Given the description of an element on the screen output the (x, y) to click on. 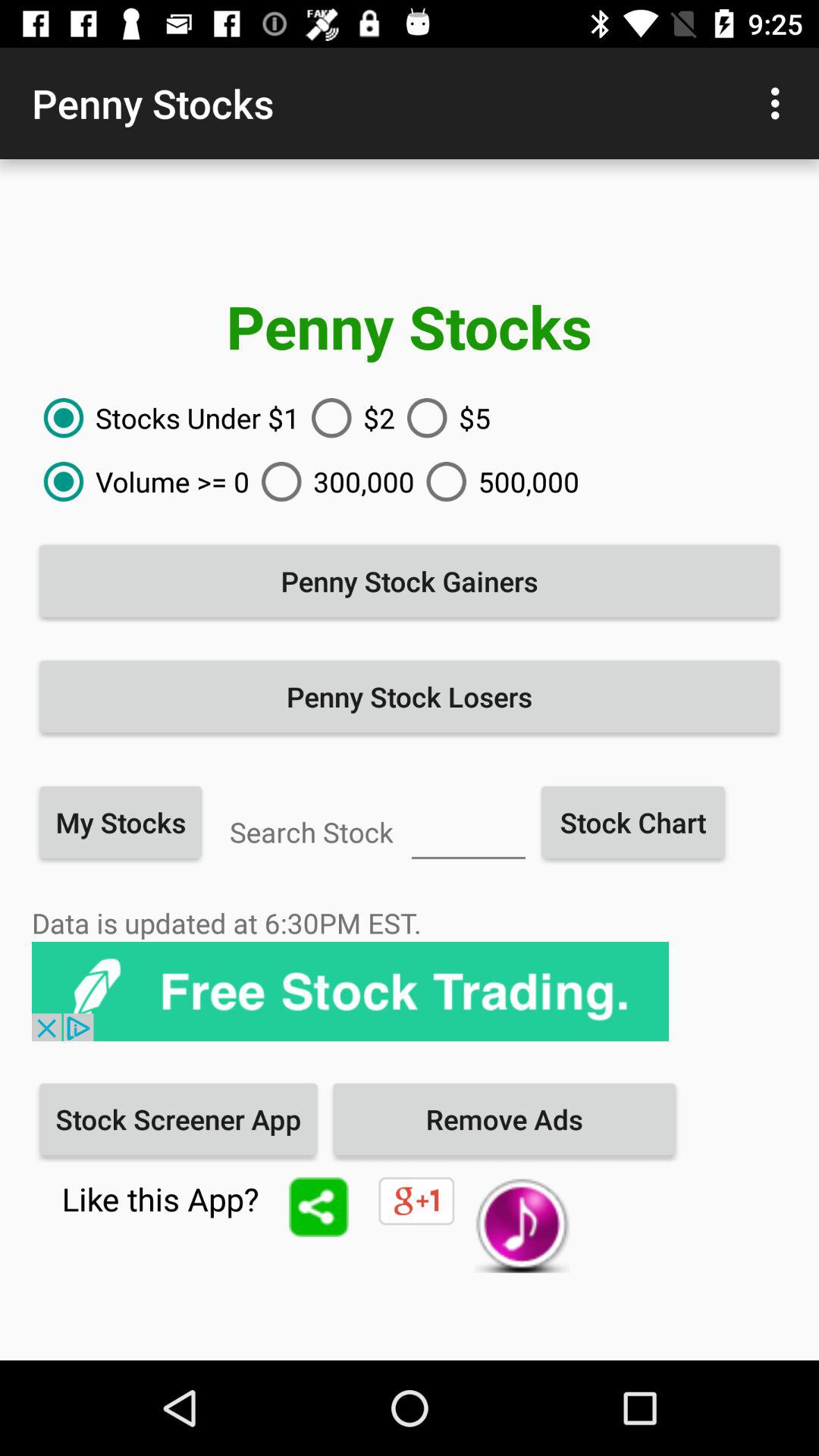
tap item above the stock screener app icon (349, 991)
